Given the description of an element on the screen output the (x, y) to click on. 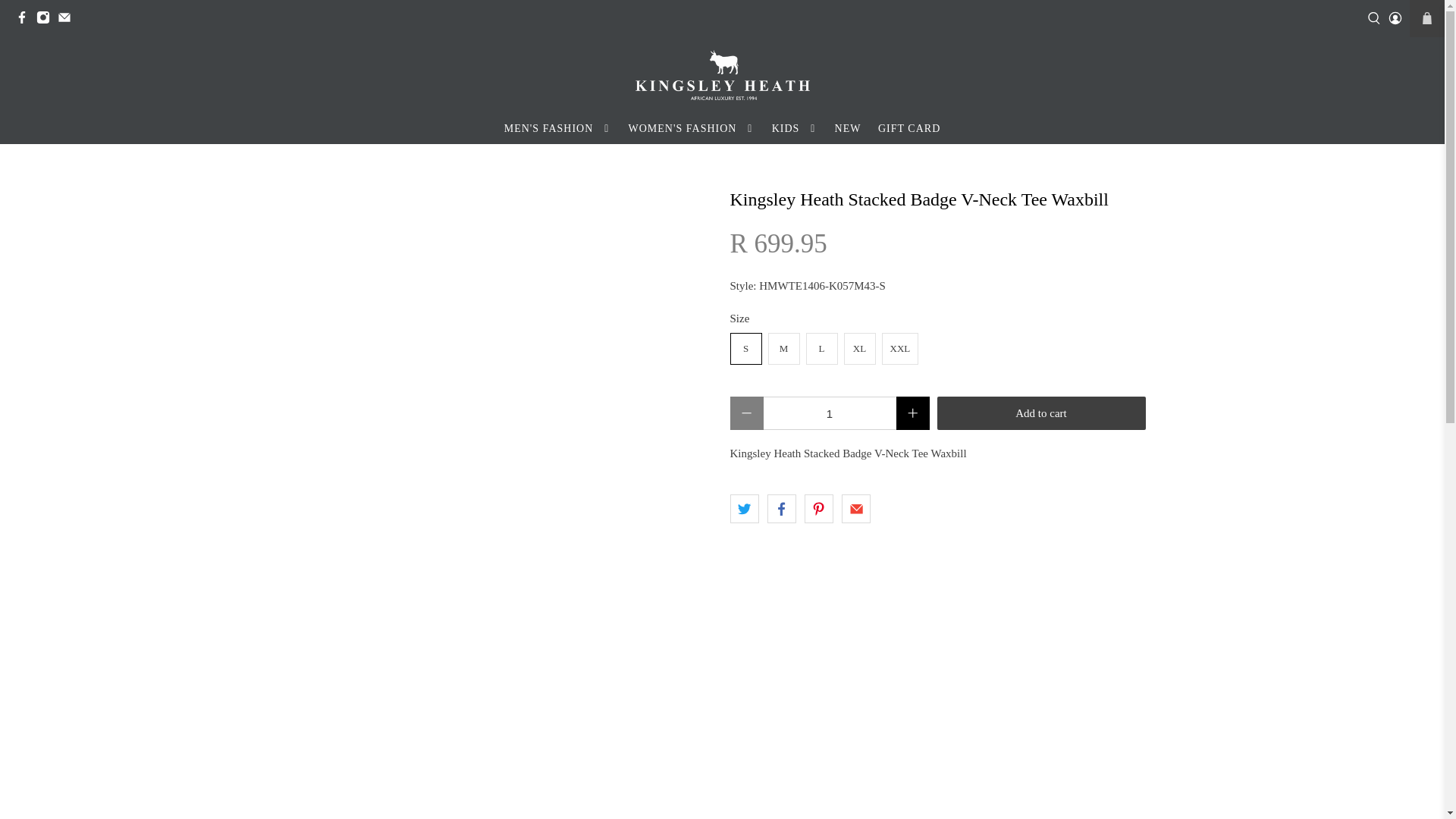
Share this on Facebook (781, 508)
Share this on Twitter (743, 508)
Kingsley Heath on Facebook (25, 20)
Share this on Pinterest (818, 508)
Email this to a friend (855, 508)
Kingsley Heath on Instagram (47, 20)
Email Kingsley Heath (68, 20)
Kingsley Heath (721, 74)
1 (828, 412)
MEN'S FASHION (557, 128)
